Given the description of an element on the screen output the (x, y) to click on. 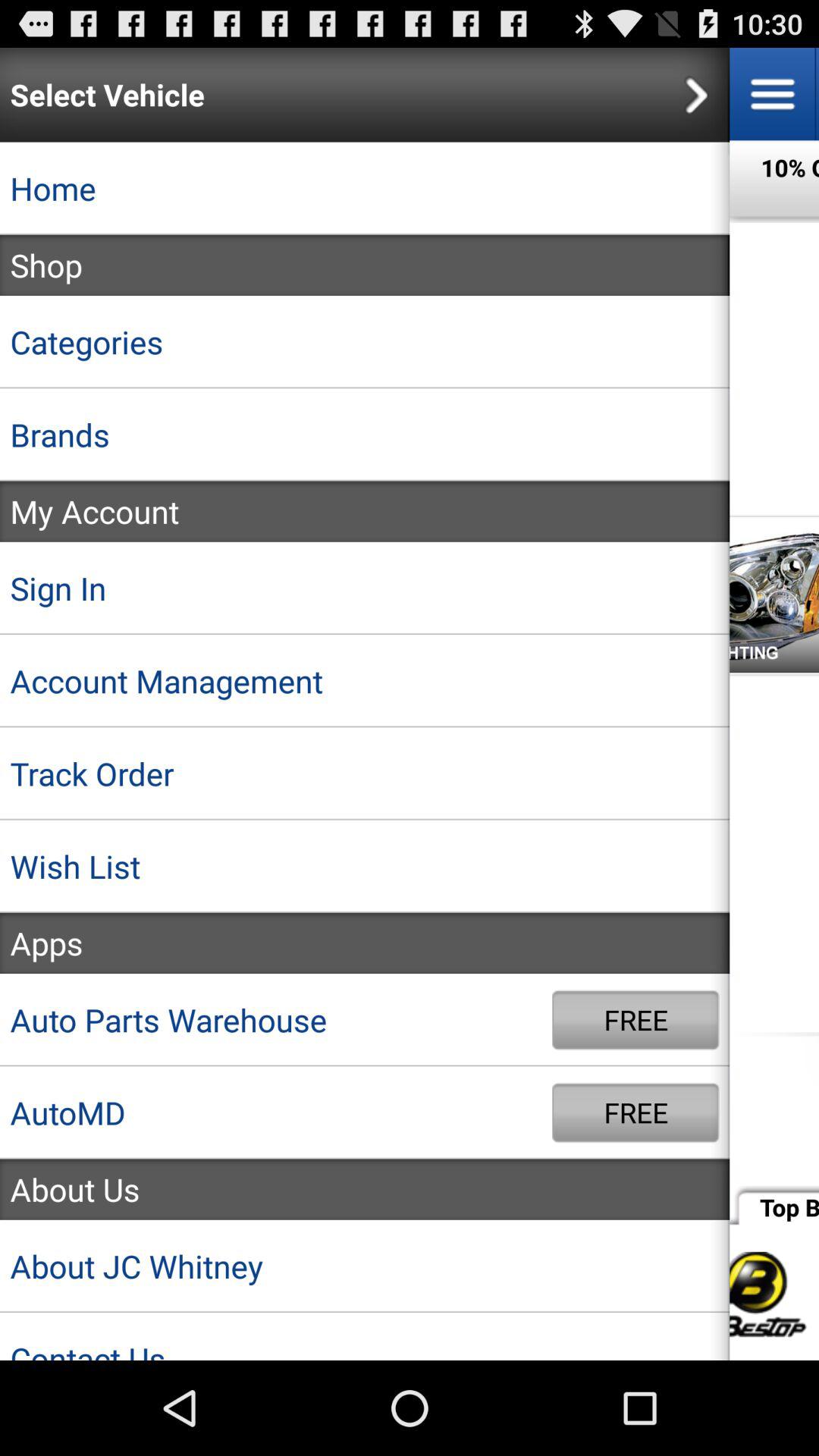
turn off the app above the automd (276, 1019)
